Given the description of an element on the screen output the (x, y) to click on. 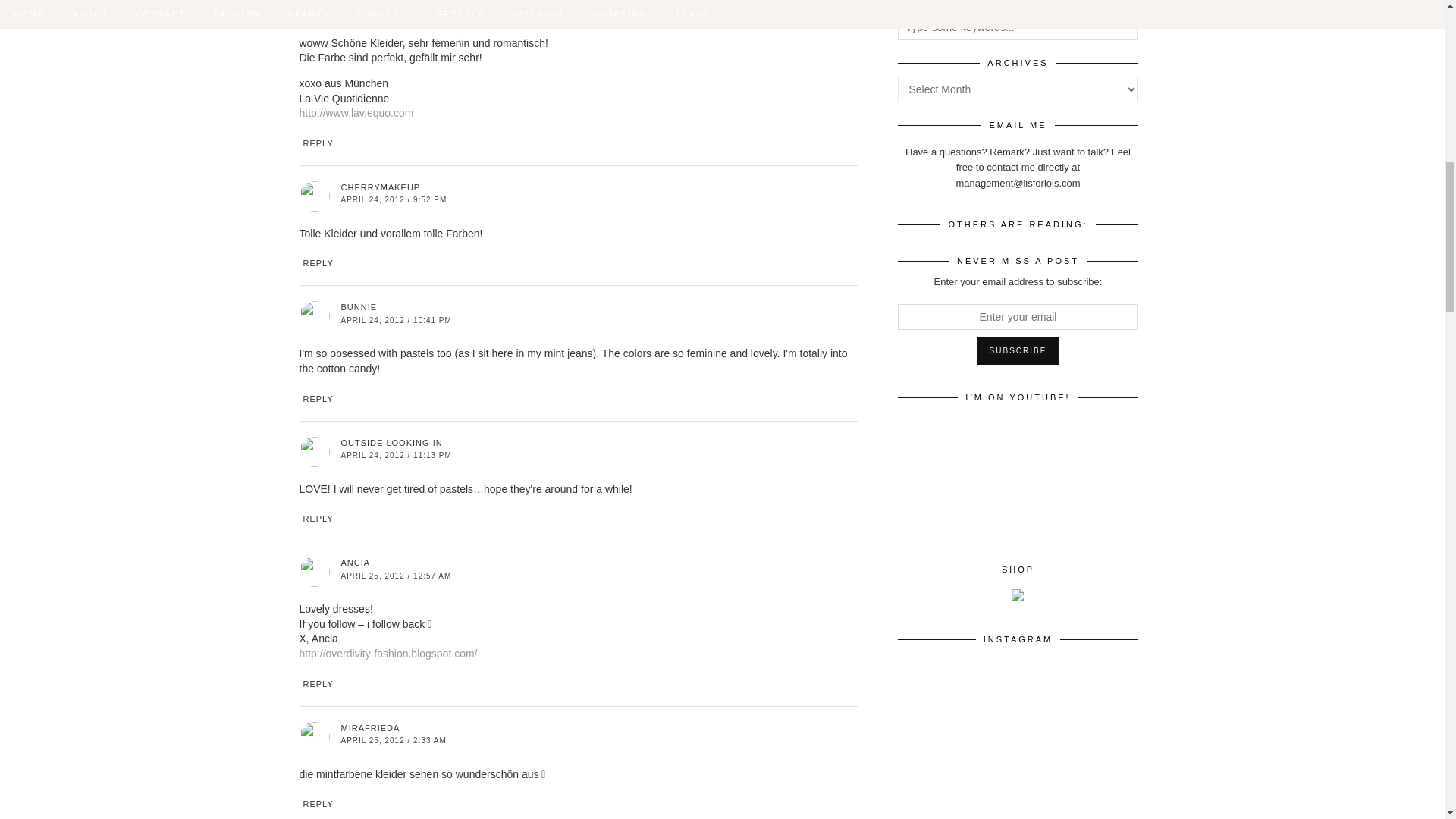
Subscribe (1017, 350)
